Given the description of an element on the screen output the (x, y) to click on. 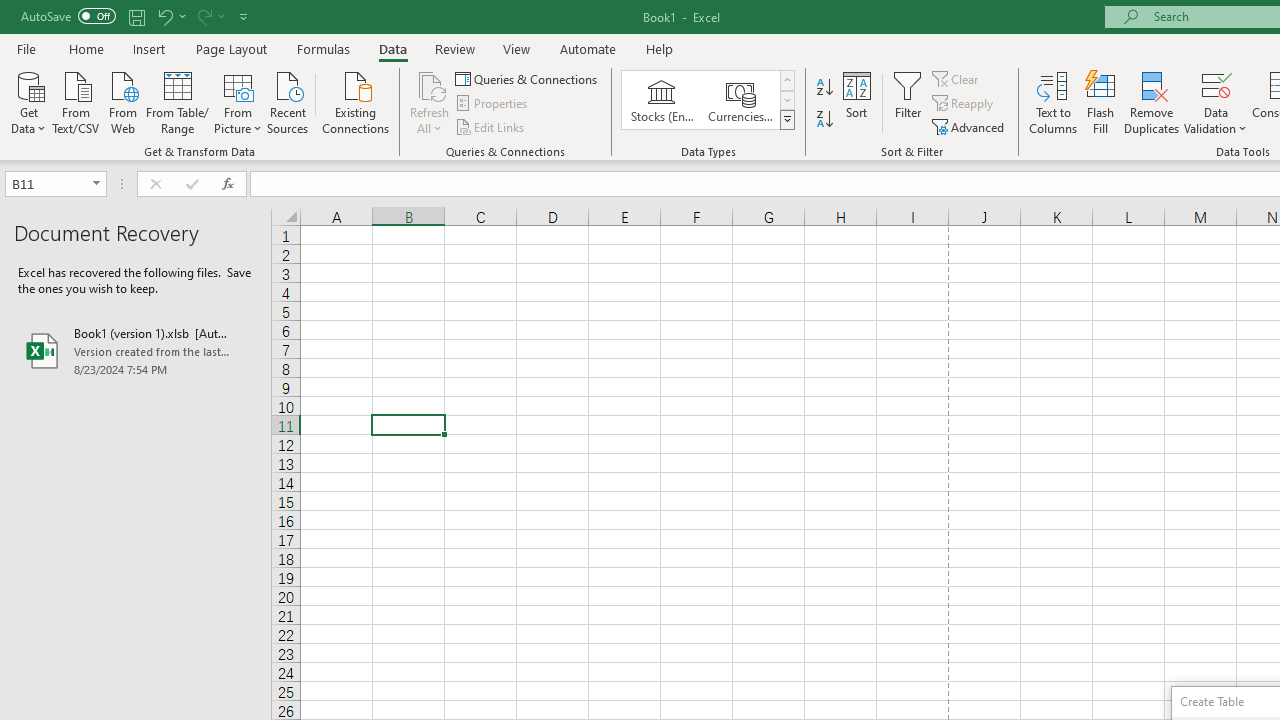
Sort... (856, 102)
AutomationID: ConvertToLinkedEntity (708, 99)
Filter (908, 102)
From Text/CSV (75, 101)
Data Validation... (1215, 84)
Data Types (786, 120)
Existing Connections (355, 101)
